Given the description of an element on the screen output the (x, y) to click on. 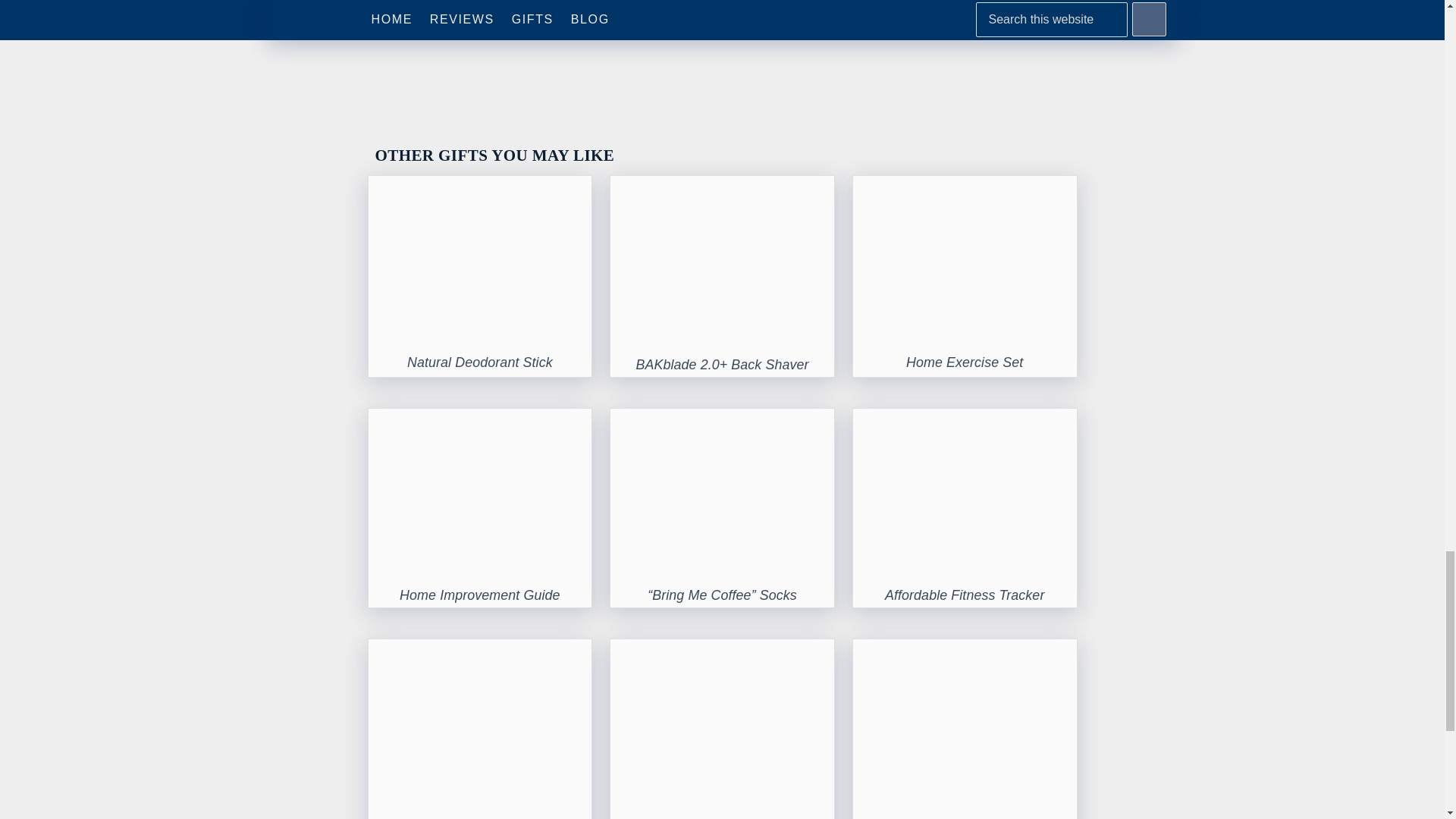
Permanent Link to Posture Brace (965, 651)
Permanent Link to Home Improvement Guide (478, 595)
Permanent Link to Home Exercise Set (965, 188)
Permanent Link to Affordable Fitness Tracker (965, 595)
Permanent Link to Natural Deodorant Stick (480, 188)
Permanent Link to Ergonomic Travel Pillow (722, 651)
Permanent Link to Home Exercise Set (964, 362)
Permanent Link to Affordable Fitness Tracker (965, 420)
Permanent Link to Automatic Shoe Polisher (480, 651)
Permanent Link to Home Improvement Guide (480, 420)
Permanent Link to Natural Deodorant Stick (480, 362)
